Given the description of an element on the screen output the (x, y) to click on. 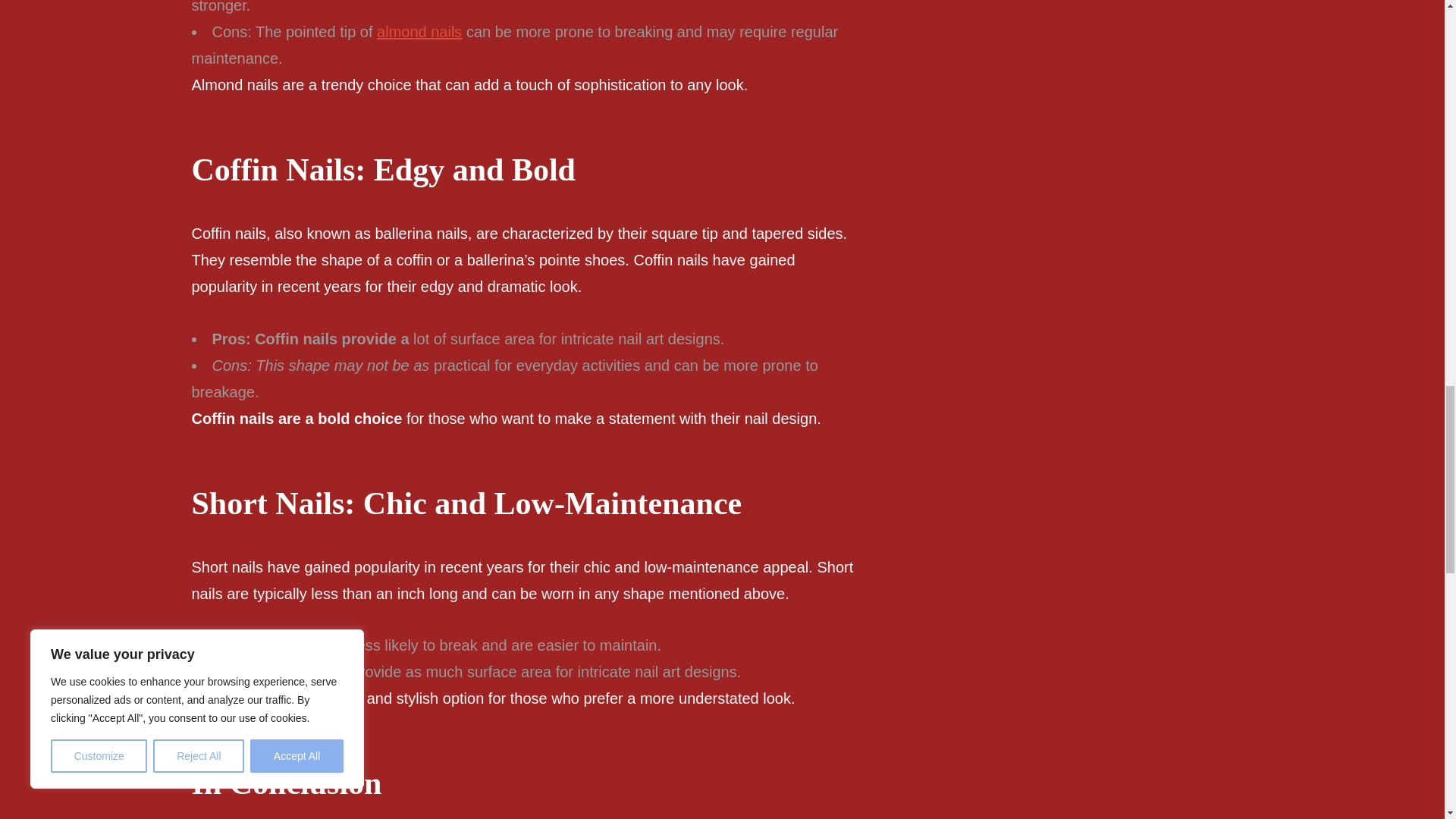
almond nails (419, 31)
